Given the description of an element on the screen output the (x, y) to click on. 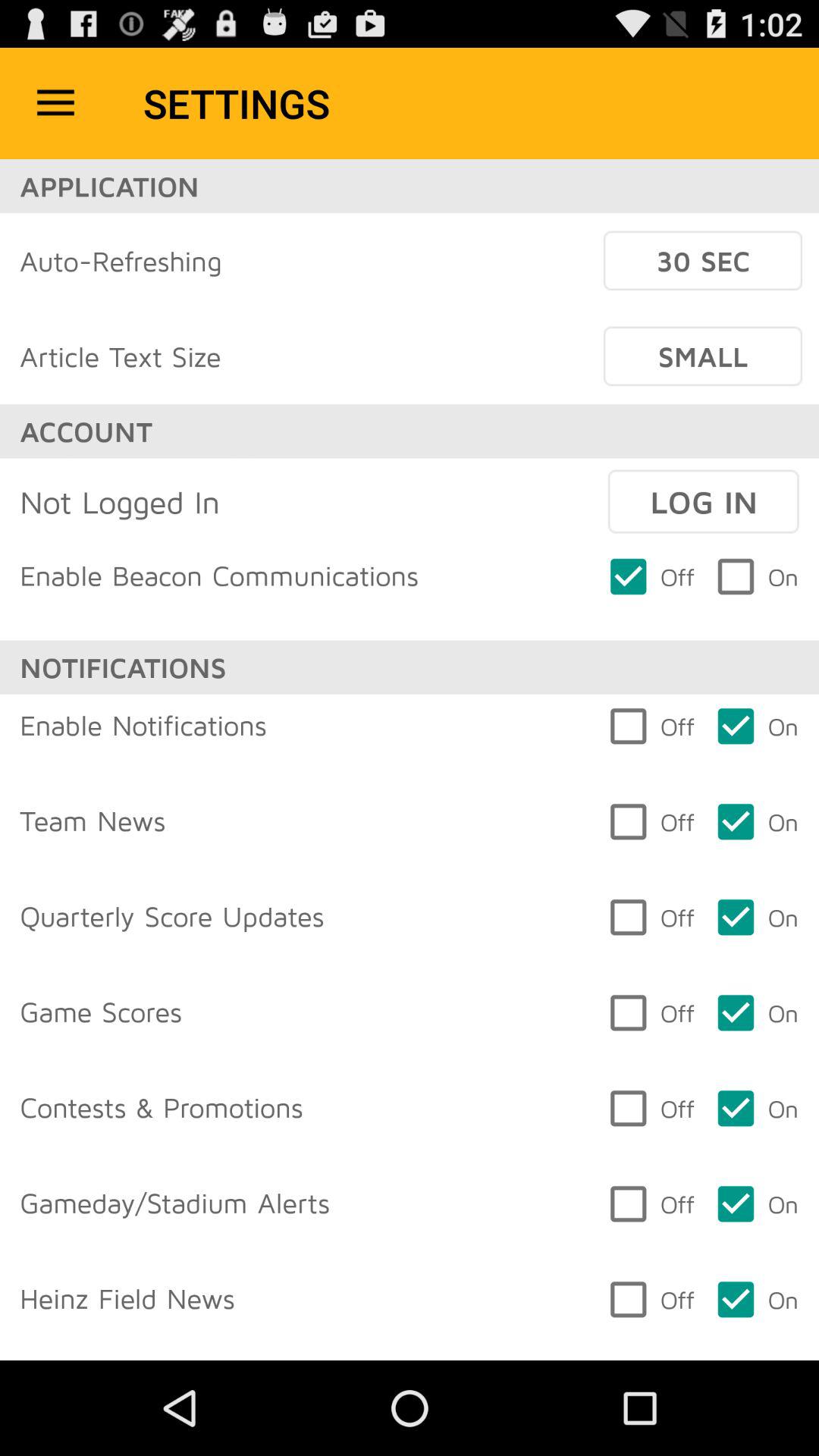
tap the icon next to the settings (55, 103)
